Given the description of an element on the screen output the (x, y) to click on. 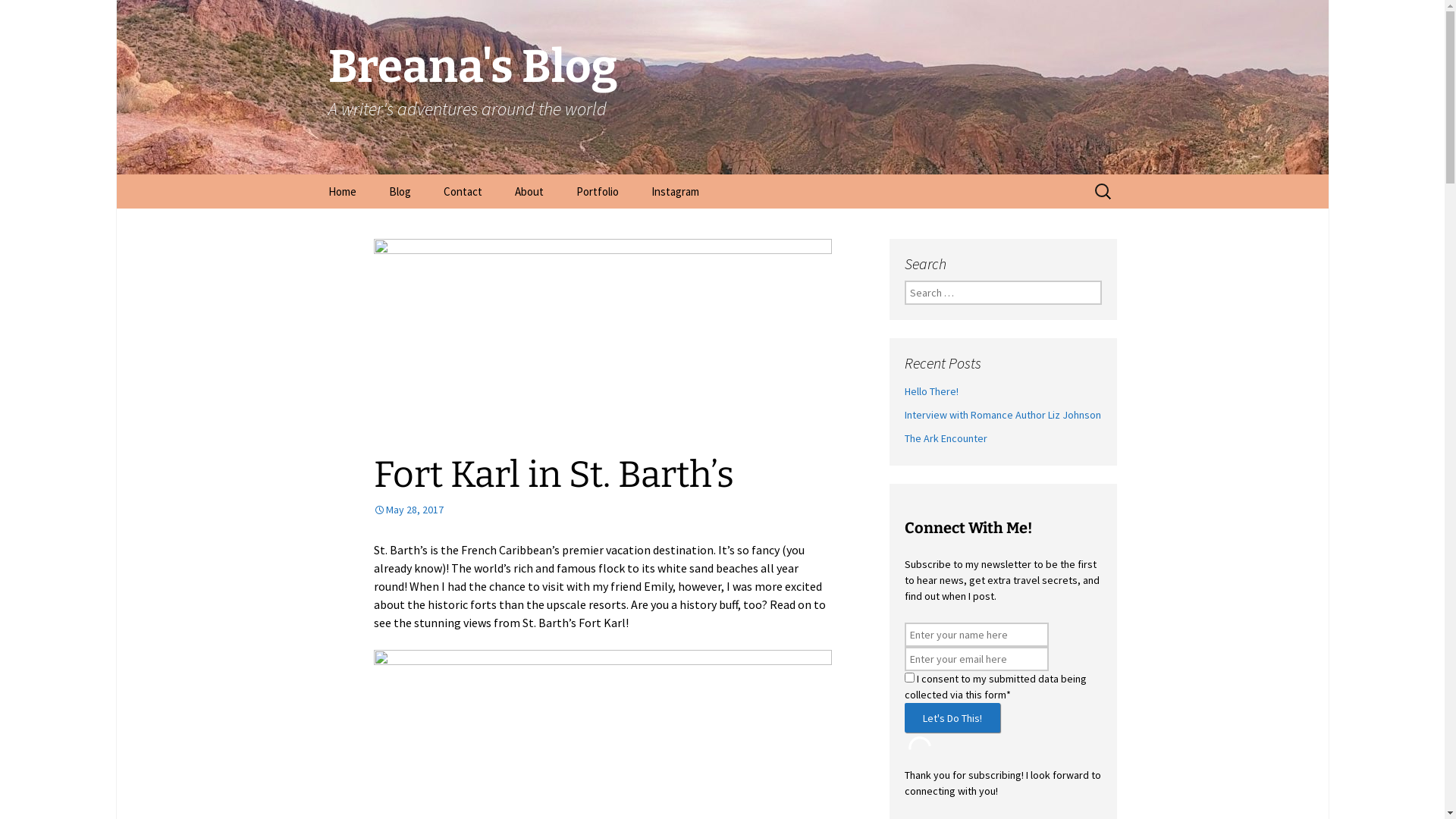
AUC Element type: text (653, 509)
Enter your email here Element type: hover (975, 658)
Search Element type: text (18, 15)
Search Element type: text (34, 14)
Expat Element type: text (602, 509)
Island Element type: text (757, 509)
The Ark Encounter Element type: text (944, 438)
AUCmed Element type: text (513, 509)
Gustavia Element type: text (718, 509)
SXM Element type: text (834, 509)
Caribbean Element type: text (716, 509)
St. Barth Element type: text (1077, 509)
Spouses Organization Element type: text (1002, 509)
Caribbean Element type: text (561, 509)
Home Element type: text (341, 191)
Expats and TCKs Element type: text (818, 509)
Blog Element type: text (677, 509)
Expats Element type: text (759, 509)
Fort karl Element type: text (639, 509)
Instagram Element type: text (674, 191)
St. Barths Element type: text (798, 509)
French Element type: text (677, 509)
Interview with Romance Author Liz Johnson Element type: text (1001, 414)
Breana's Blog
A writer's adventures around the world Element type: text (721, 87)
Enter your name here Element type: hover (975, 634)
Contact Element type: text (461, 191)
About Element type: text (528, 191)
Hello There! Element type: text (930, 391)
Portfolio Element type: text (597, 191)
International Travel Element type: text (448, 225)
Skip to content Element type: text (312, 173)
May 28, 2017 Element type: text (407, 509)
American University of the Caribbean Element type: text (548, 509)
International Travel Element type: text (902, 509)
Blog Element type: text (399, 191)
AUC Element type: text (473, 509)
Let's Do This! Element type: text (951, 717)
